Given the description of an element on the screen output the (x, y) to click on. 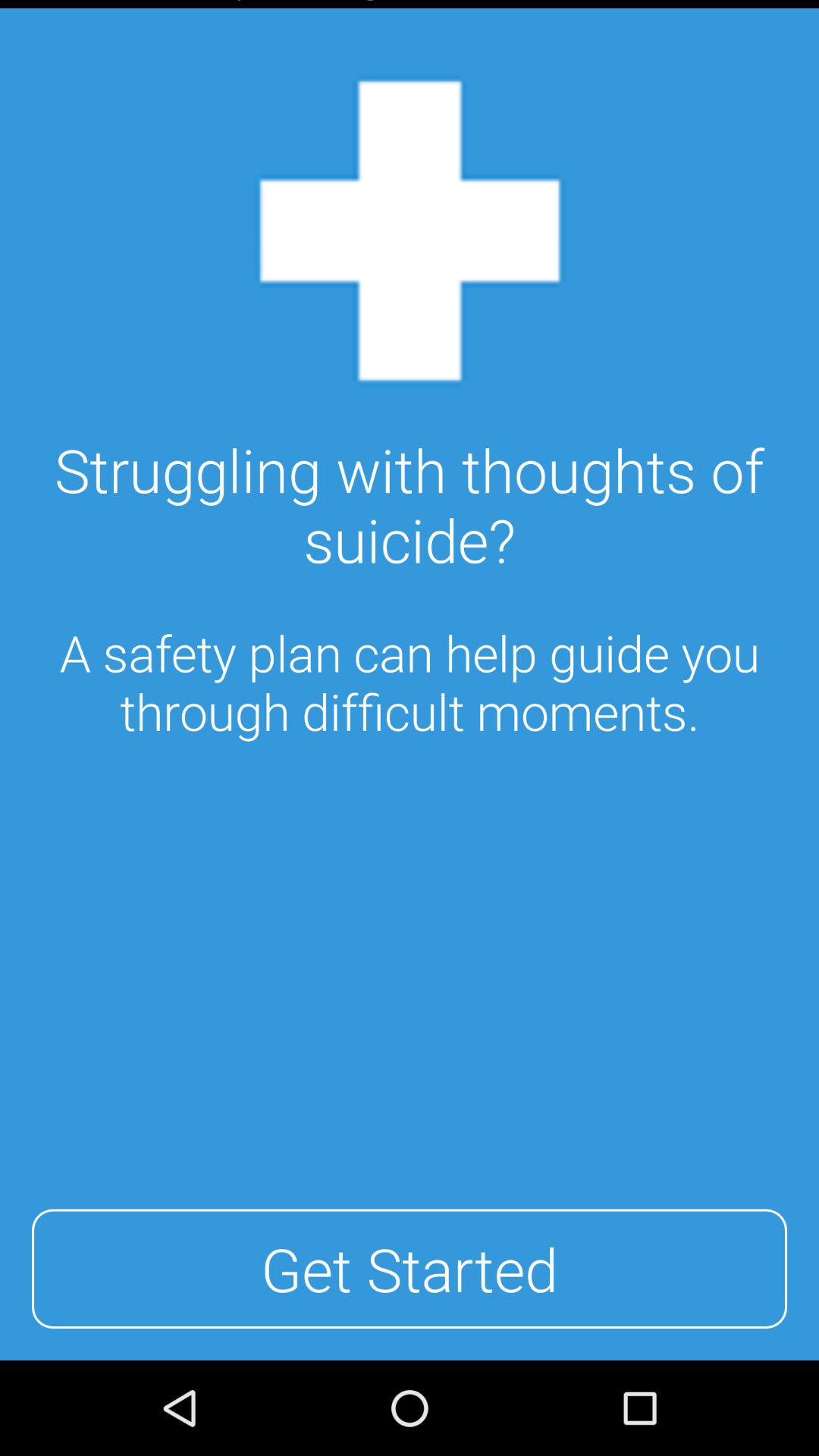
flip until the get started icon (409, 1268)
